Given the description of an element on the screen output the (x, y) to click on. 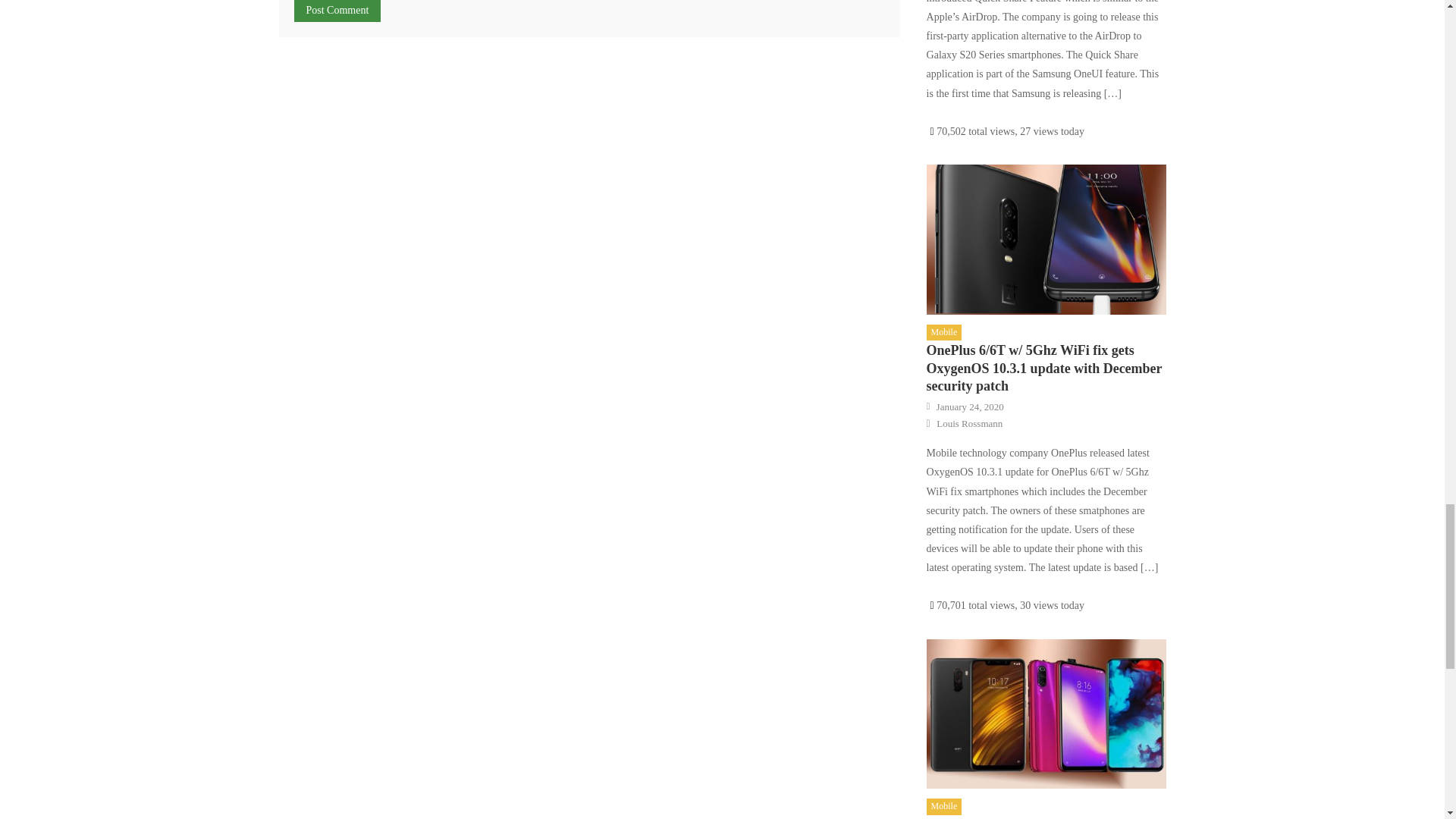
Post Comment (337, 11)
Poco to launch top-end SoC based smartphone in this quarter (1046, 713)
Post Comment (337, 11)
